Given the description of an element on the screen output the (x, y) to click on. 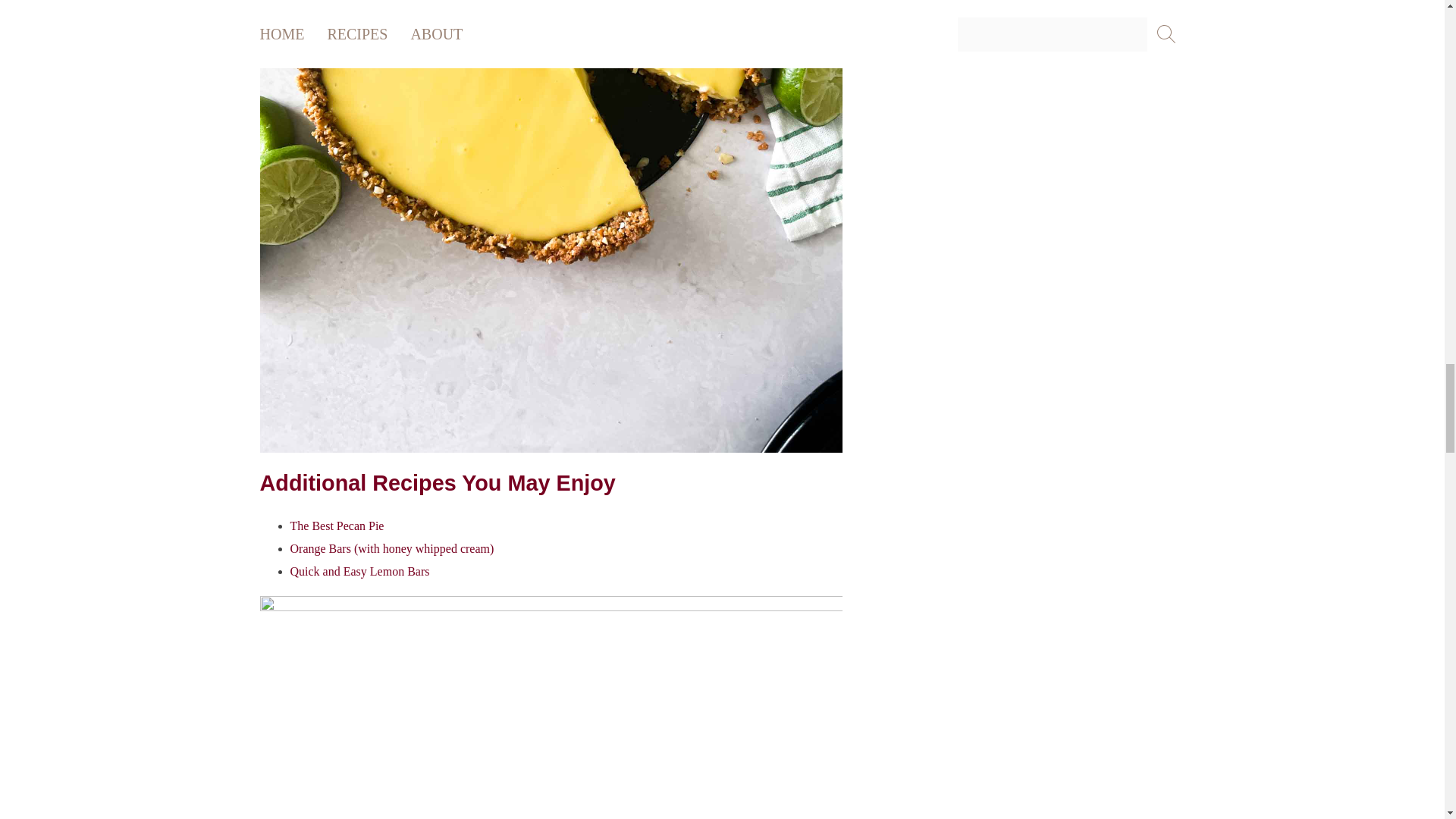
Quick and Easy Lemon Bars (359, 571)
Quick and Easy Lemon Bars (359, 571)
The Best Pecan Pie (336, 525)
The Best Pecan Pie (336, 525)
